Given the description of an element on the screen output the (x, y) to click on. 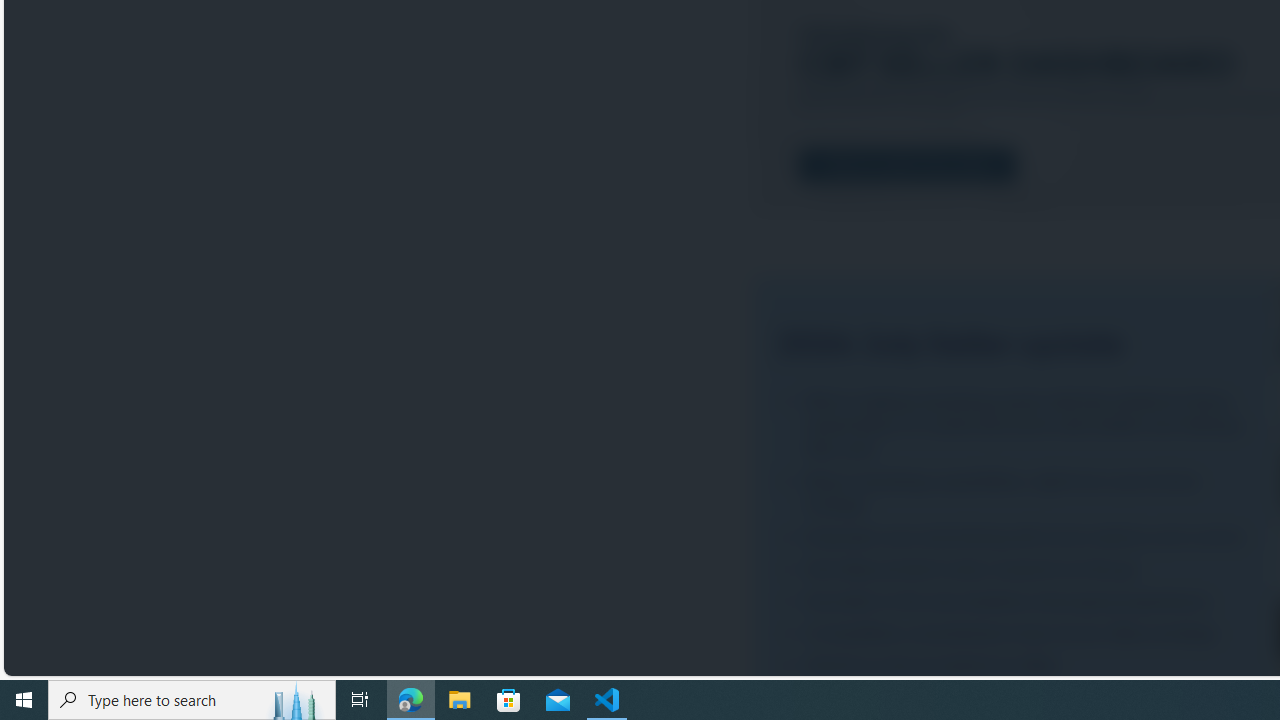
A simplified, consolidated view of your eBay earnings (1015, 632)
Say hello to the new desktop messaging experience (1015, 601)
Empower your advertising with more metrics and control (1015, 537)
Get eBay product sales research on the go (1015, 569)
Venmo is now accepted on eBay (1015, 665)
More marketing capabilities, right from your Active Listings (1015, 492)
